Given the description of an element on the screen output the (x, y) to click on. 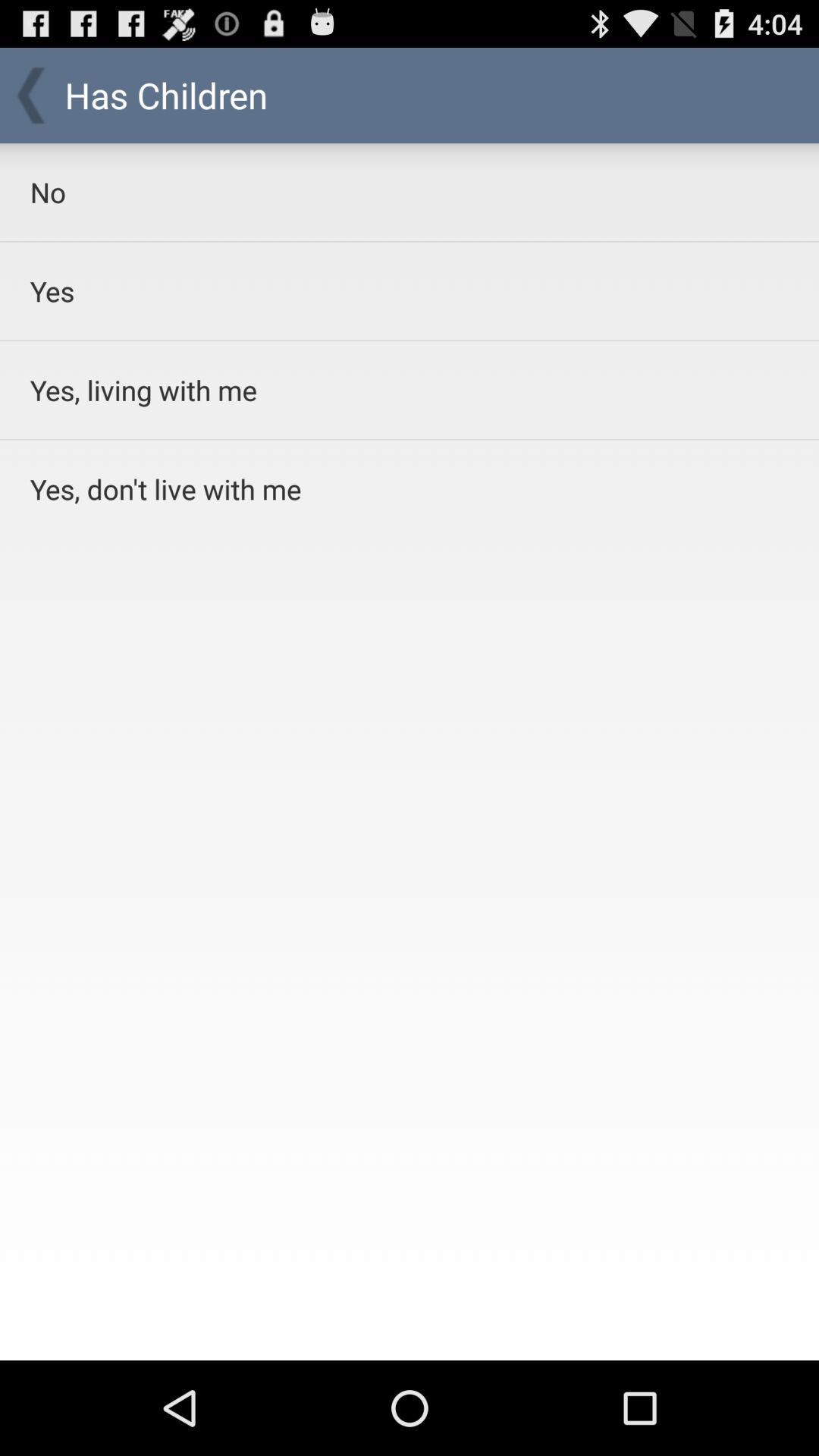
jump to no (371, 192)
